Given the description of an element on the screen output the (x, y) to click on. 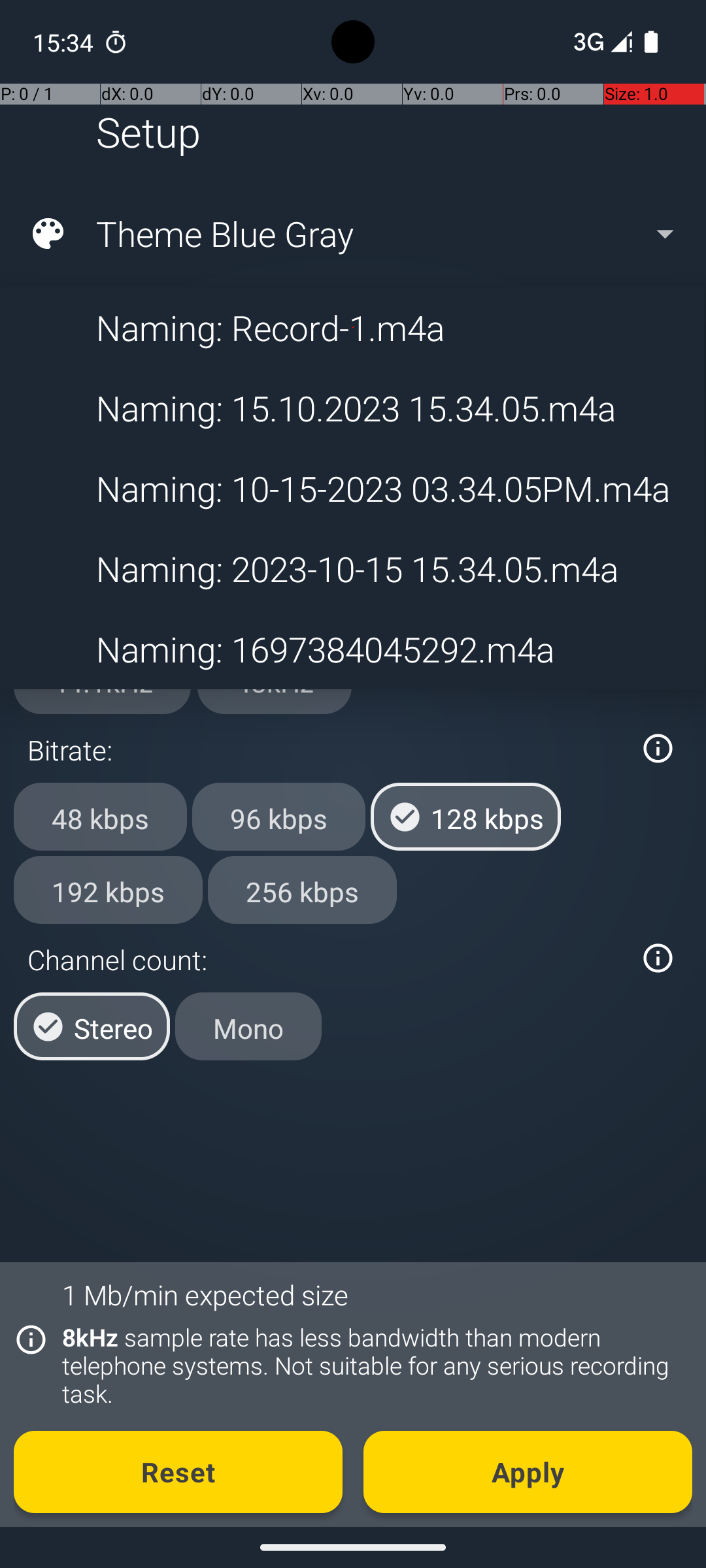
Naming: 15.10.2023 15.34.05.m4a Element type: android.widget.TextView (352, 407)
Naming: 10-15-2023 03.34.05PM.m4a Element type: android.widget.TextView (352, 488)
Naming: 2023-10-15 15.34.05.m4a Element type: android.widget.TextView (352, 568)
Naming: 1697384045292.m4a Element type: android.widget.TextView (352, 648)
